Given the description of an element on the screen output the (x, y) to click on. 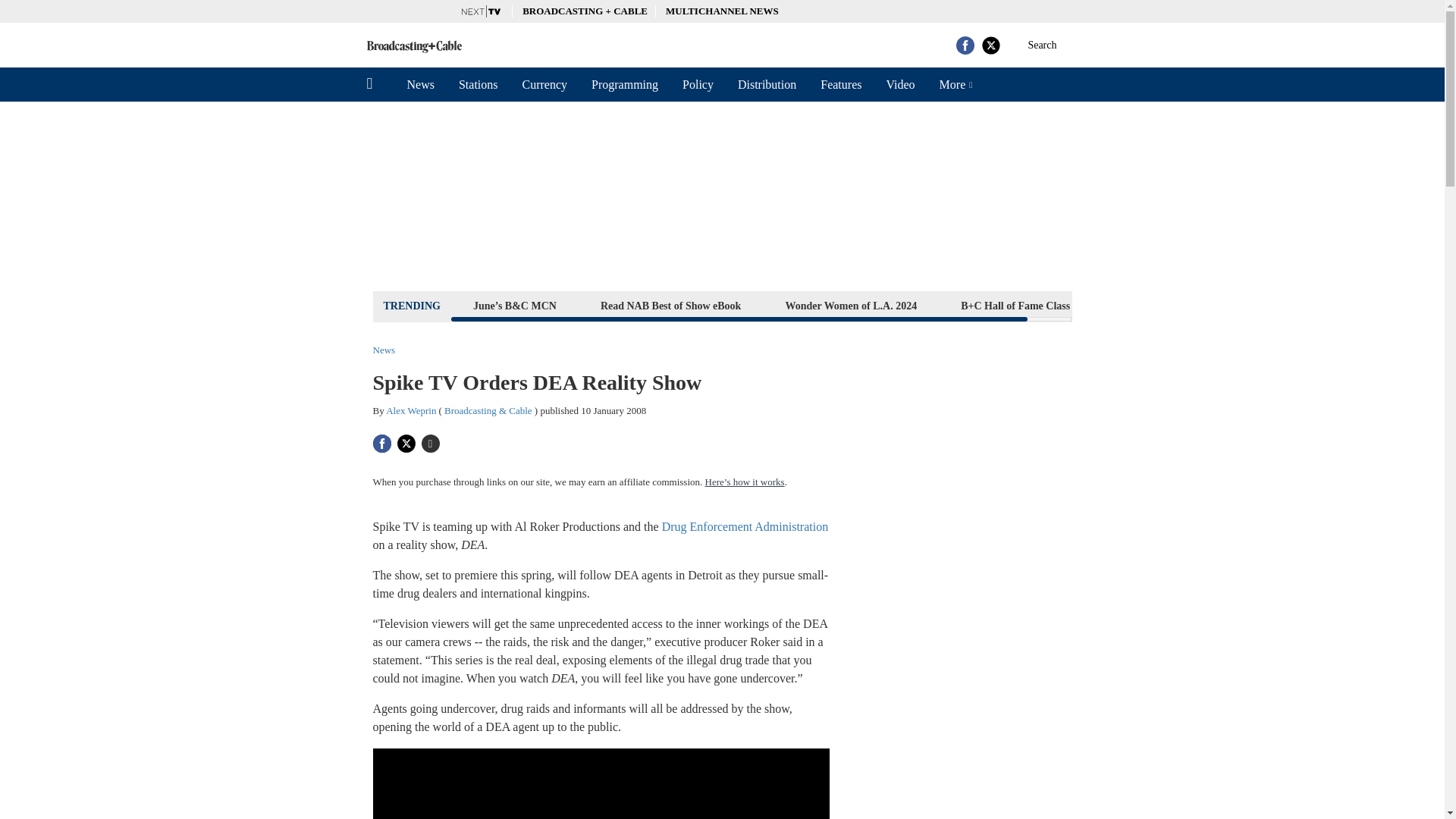
Stations (478, 84)
Programming (624, 84)
Alex Weprin (410, 410)
News (419, 84)
MULTICHANNEL NEWS (721, 10)
Distribution (766, 84)
News (384, 349)
Features (840, 84)
Policy (697, 84)
Drug Enforcement Administration (745, 526)
Video (899, 84)
Currency (544, 84)
Read NAB Best of Show eBook (670, 305)
Wonder Women of L.A. 2024 (849, 305)
